Given the description of an element on the screen output the (x, y) to click on. 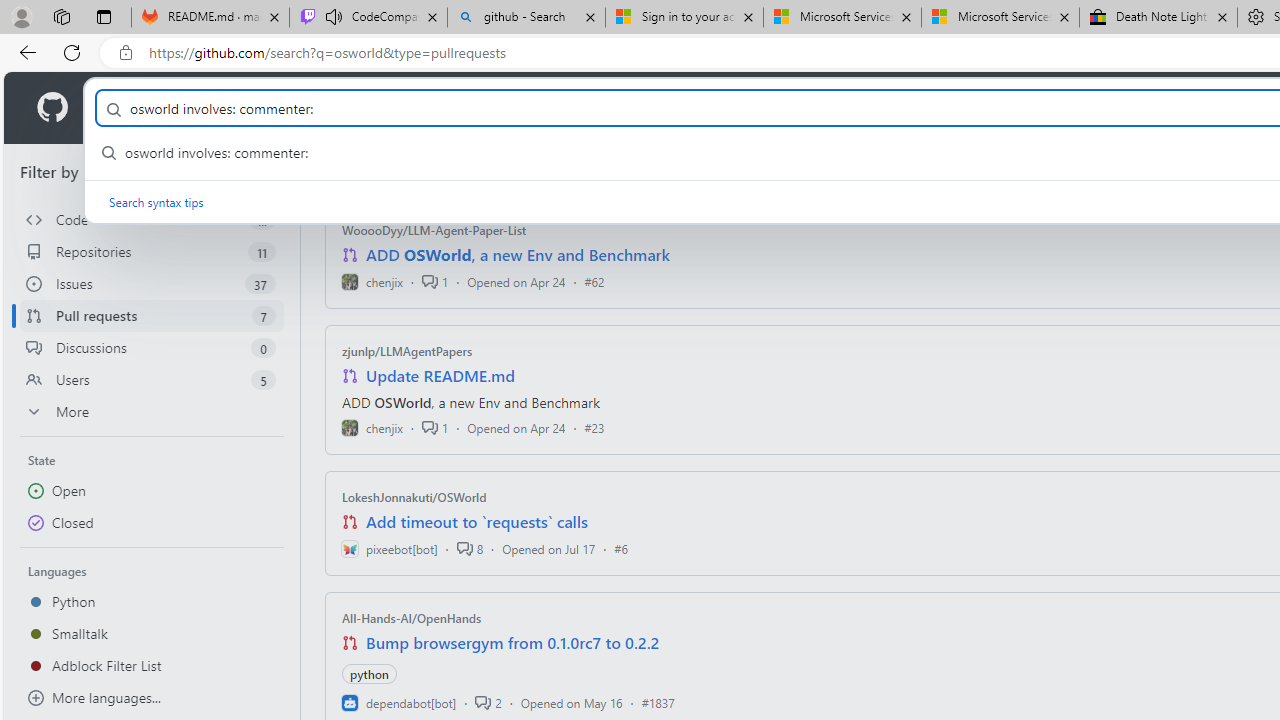
dependabot[bot] (398, 702)
LokeshJonnakuti/OSWorld (413, 497)
1 (435, 427)
#6 (621, 548)
8 (469, 548)
#1837 (657, 702)
Product (130, 107)
#6 (621, 548)
More languages... (152, 697)
